Given the description of an element on the screen output the (x, y) to click on. 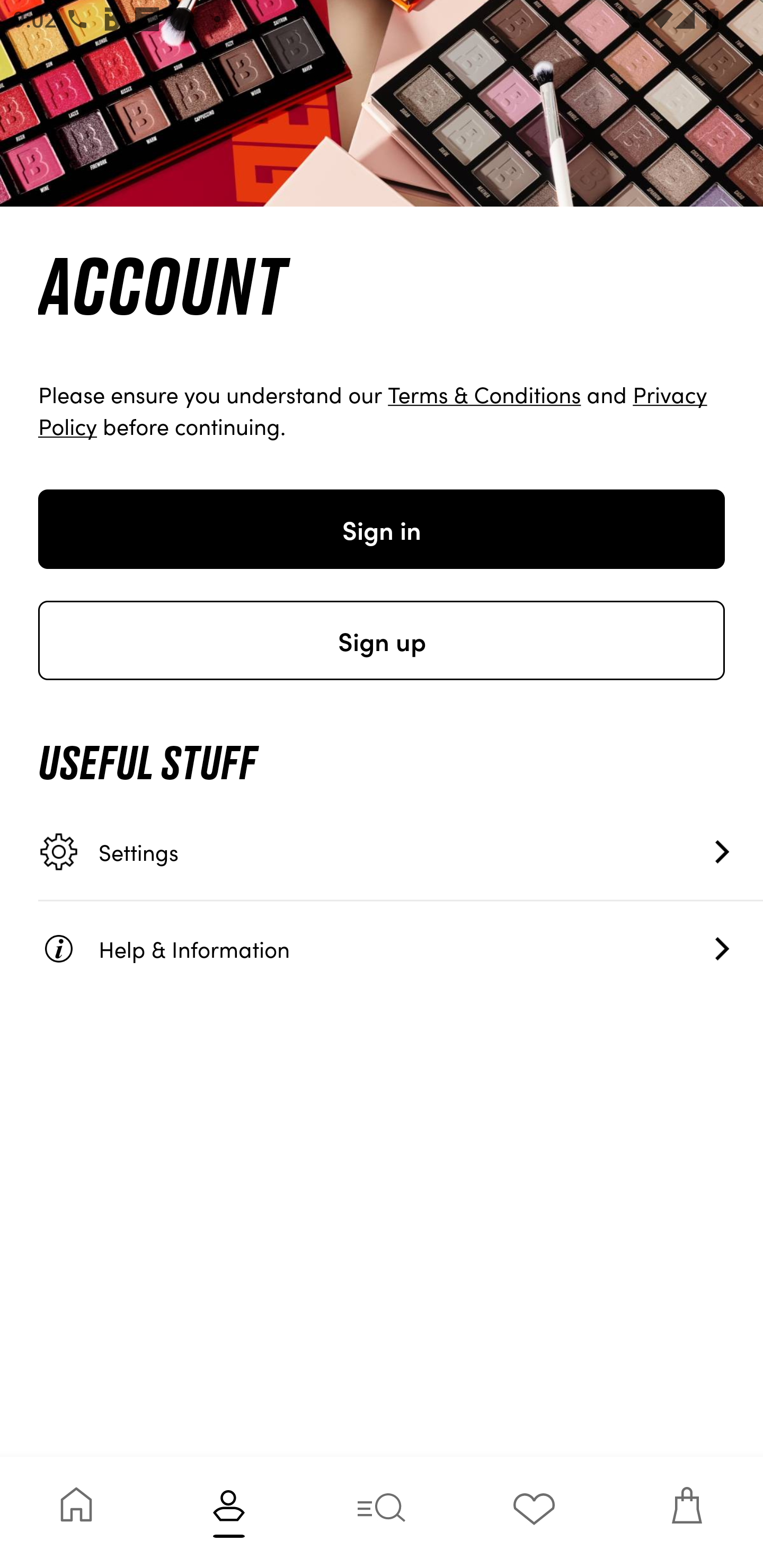
Sign in (381, 529)
Sign up (381, 640)
Settings (400, 852)
Help & Information (400, 948)
